Given the description of an element on the screen output the (x, y) to click on. 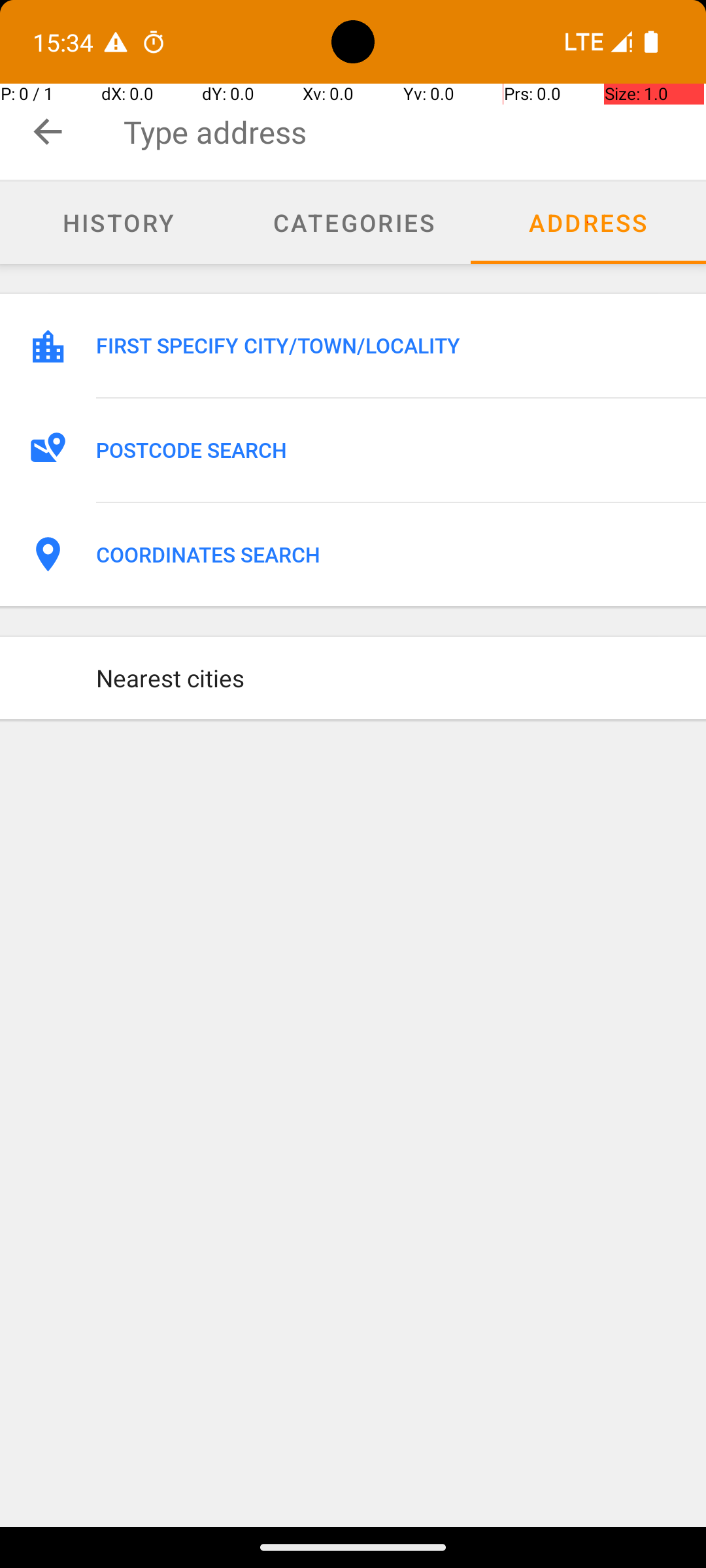
Type address Element type: android.widget.EditText (414, 131)
History Element type: android.widget.LinearLayout (117, 222)
Categories Element type: android.widget.LinearLayout (352, 222)
Address Element type: android.widget.LinearLayout (588, 222)
HISTORY Element type: android.widget.TextView (117, 222)
CATEGORIES Element type: android.widget.TextView (352, 222)
ADDRESS Element type: android.widget.TextView (587, 222)
FIRST SPECIFY CITY/TOWN/LOCALITY Element type: android.widget.TextView (387, 345)
POSTCODE SEARCH Element type: android.widget.TextView (387, 450)
COORDINATES SEARCH Element type: android.widget.TextView (387, 554)
Nearest cities Element type: android.widget.TextView (387, 678)
